Given the description of an element on the screen output the (x, y) to click on. 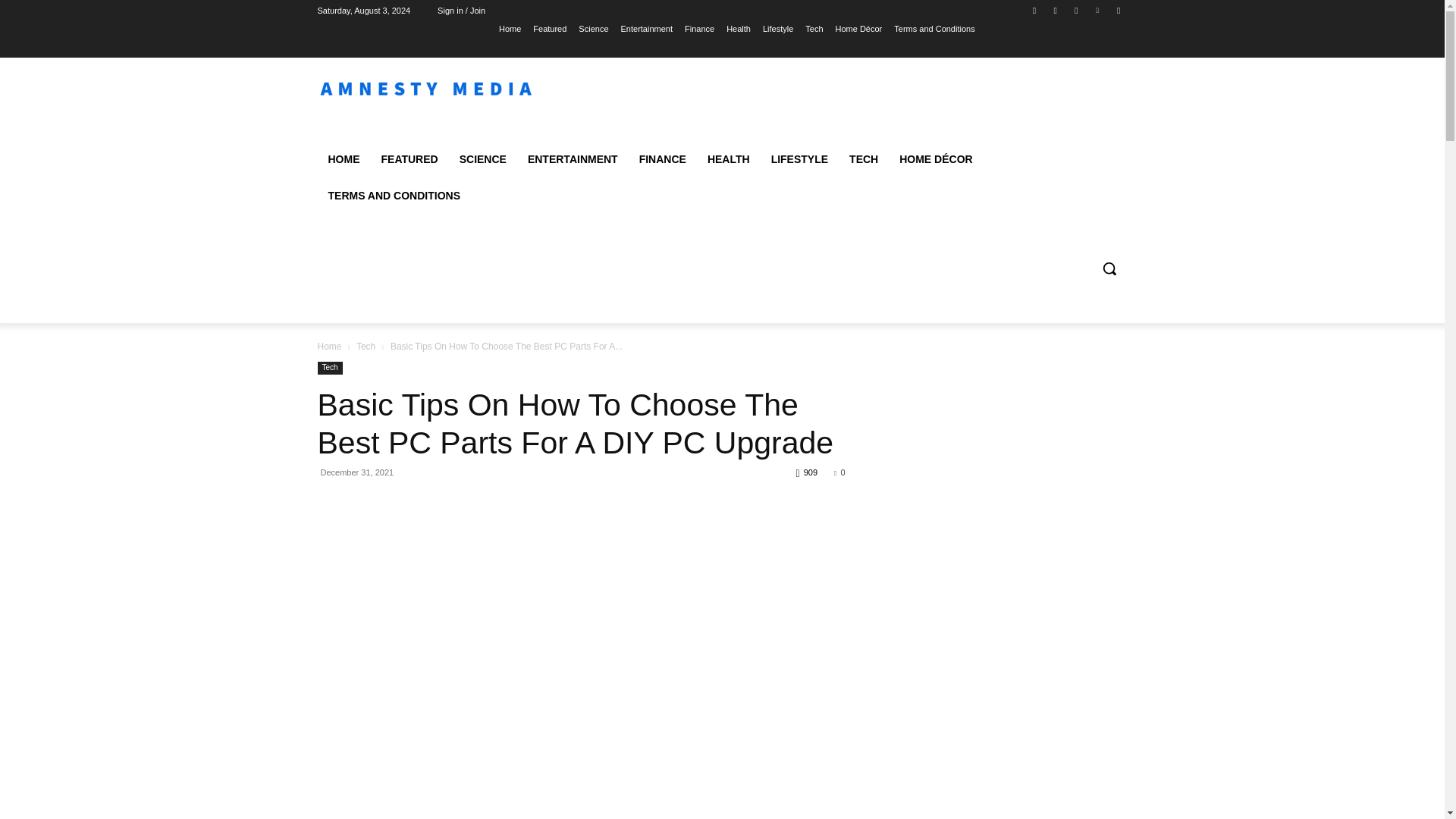
Entertainment (645, 28)
LIFESTYLE (799, 158)
Science (593, 28)
Vimeo (1097, 9)
ENTERTAINMENT (572, 158)
Home (510, 28)
FEATURED (408, 158)
Terms and Conditions (933, 28)
SCIENCE (482, 158)
Lifestyle (777, 28)
Twitter (1075, 9)
View all posts in Tech (365, 346)
Finance (699, 28)
FINANCE (662, 158)
Youtube (1117, 9)
